Given the description of an element on the screen output the (x, y) to click on. 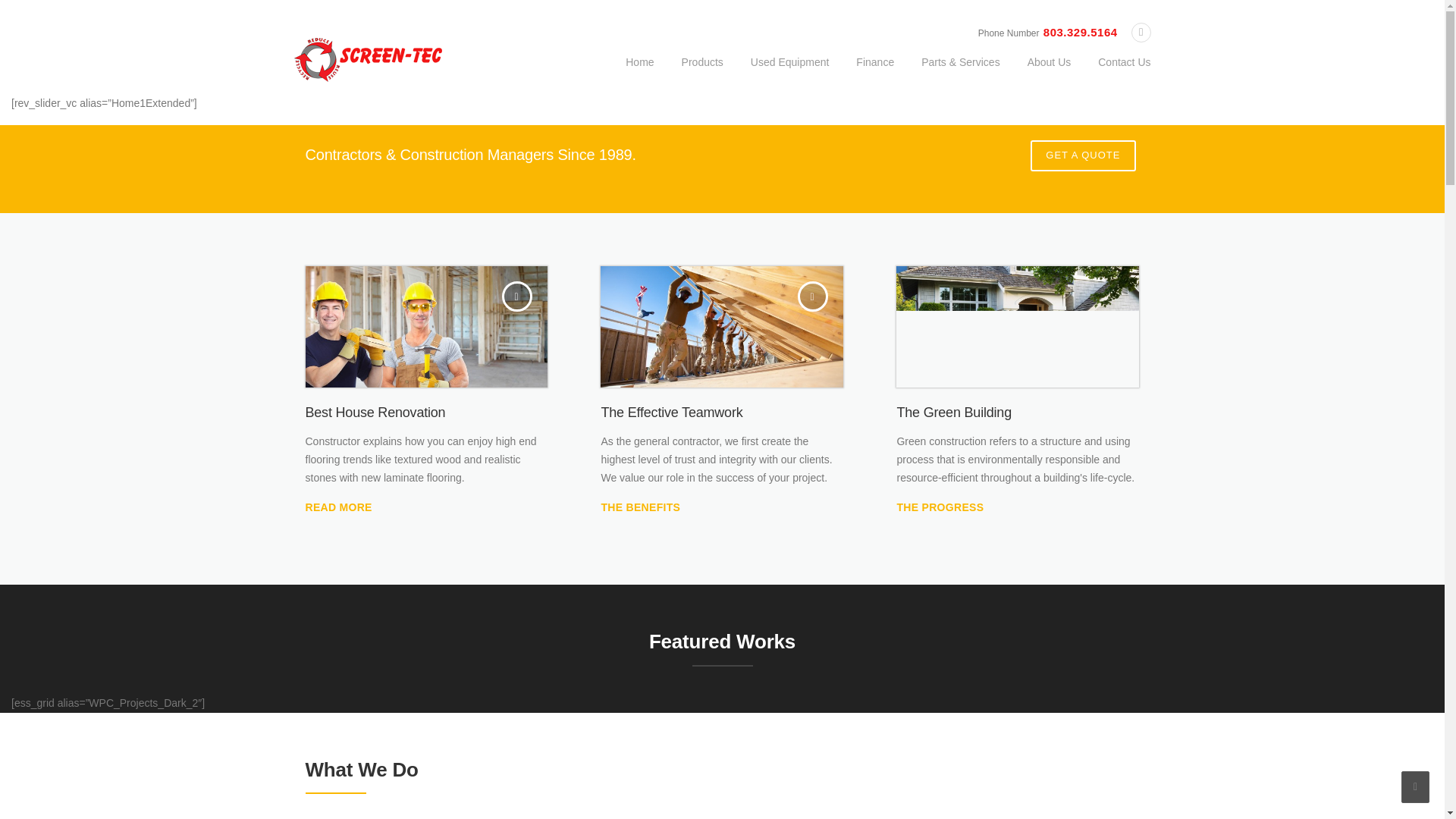
Used Equipment (789, 74)
About Us (1048, 74)
Home (638, 74)
READ MORE (337, 507)
THE PROGRESS (940, 507)
Contact Us (1117, 74)
THE BENEFITS (639, 507)
Finance (875, 74)
Products (702, 74)
Email (1141, 32)
GET A QUOTE (1082, 155)
screentecllc (368, 59)
